Given the description of an element on the screen output the (x, y) to click on. 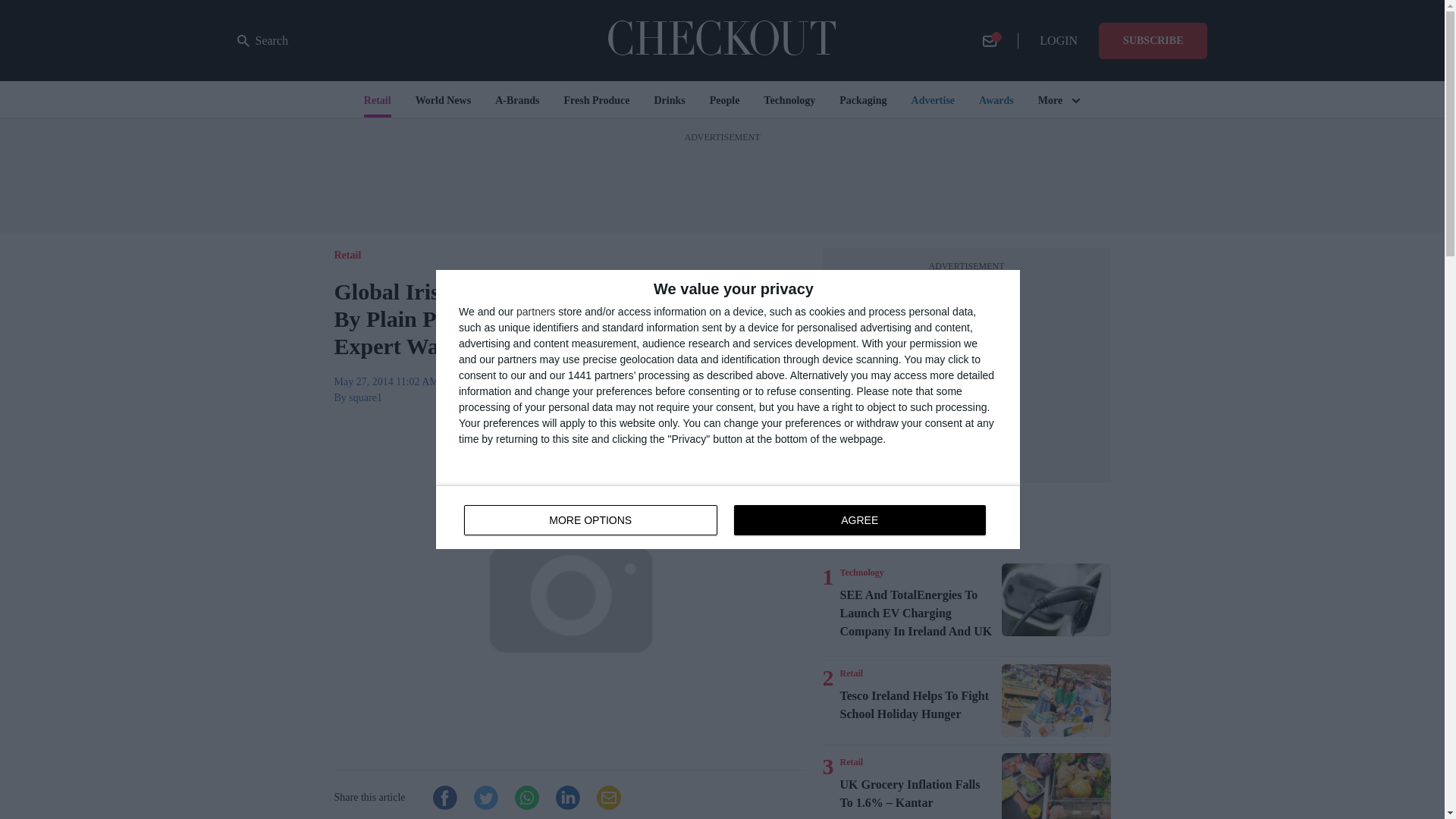
Tesco Ireland Helps To Fight School Holiday Hunger (917, 705)
Tesco Ireland Helps To Fight School Holiday Hunger (1055, 700)
Retail (851, 761)
Retail (851, 673)
Technology (861, 572)
Search (727, 516)
